Given the description of an element on the screen output the (x, y) to click on. 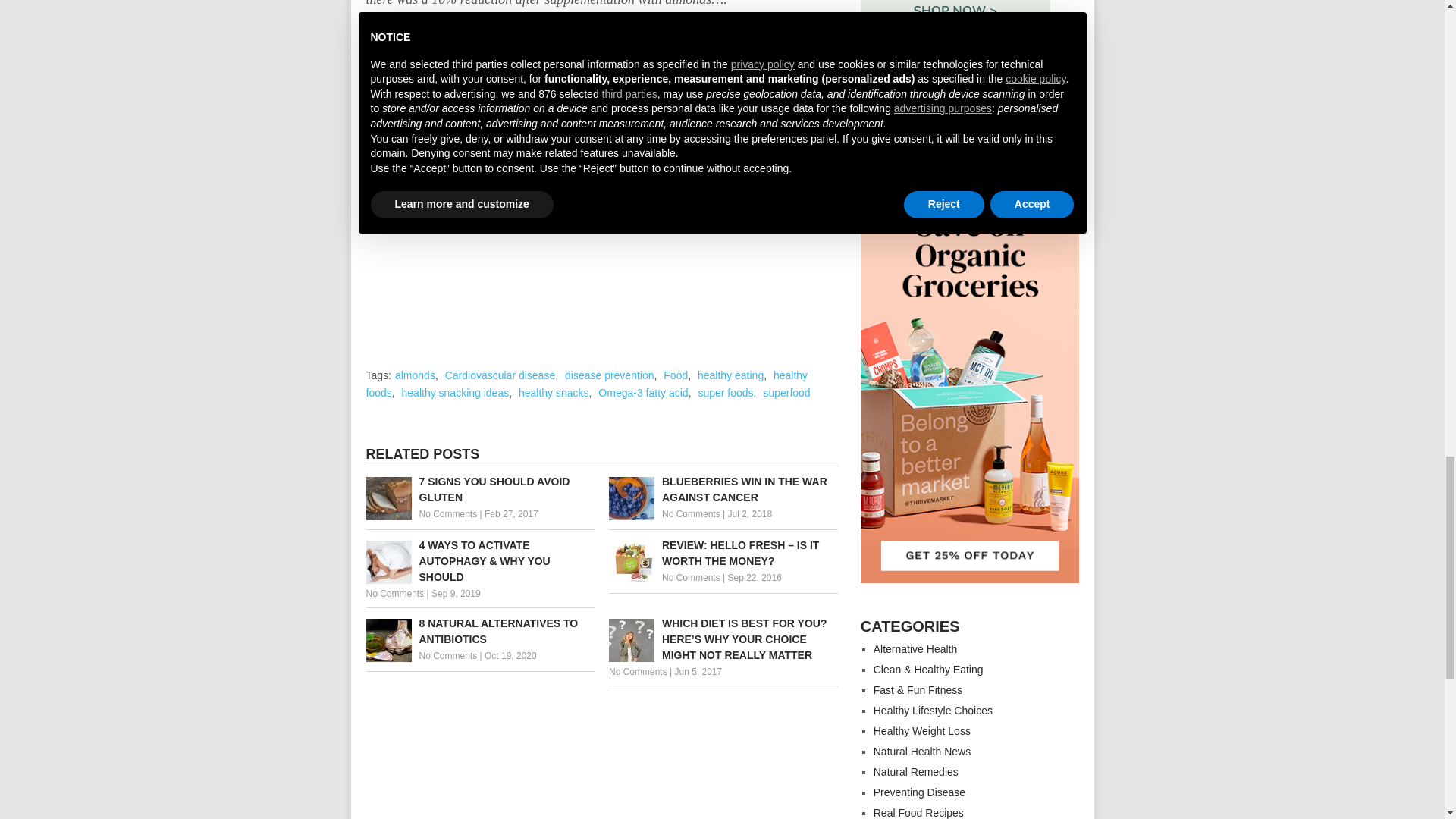
Twitter (411, 111)
HealthierTalk.com (636, 49)
Pinterest (441, 111)
Tumblr (501, 111)
Twitter (411, 111)
Email (531, 111)
Facebook (380, 111)
Facebook (380, 111)
LinkedIn (471, 111)
